Given the description of an element on the screen output the (x, y) to click on. 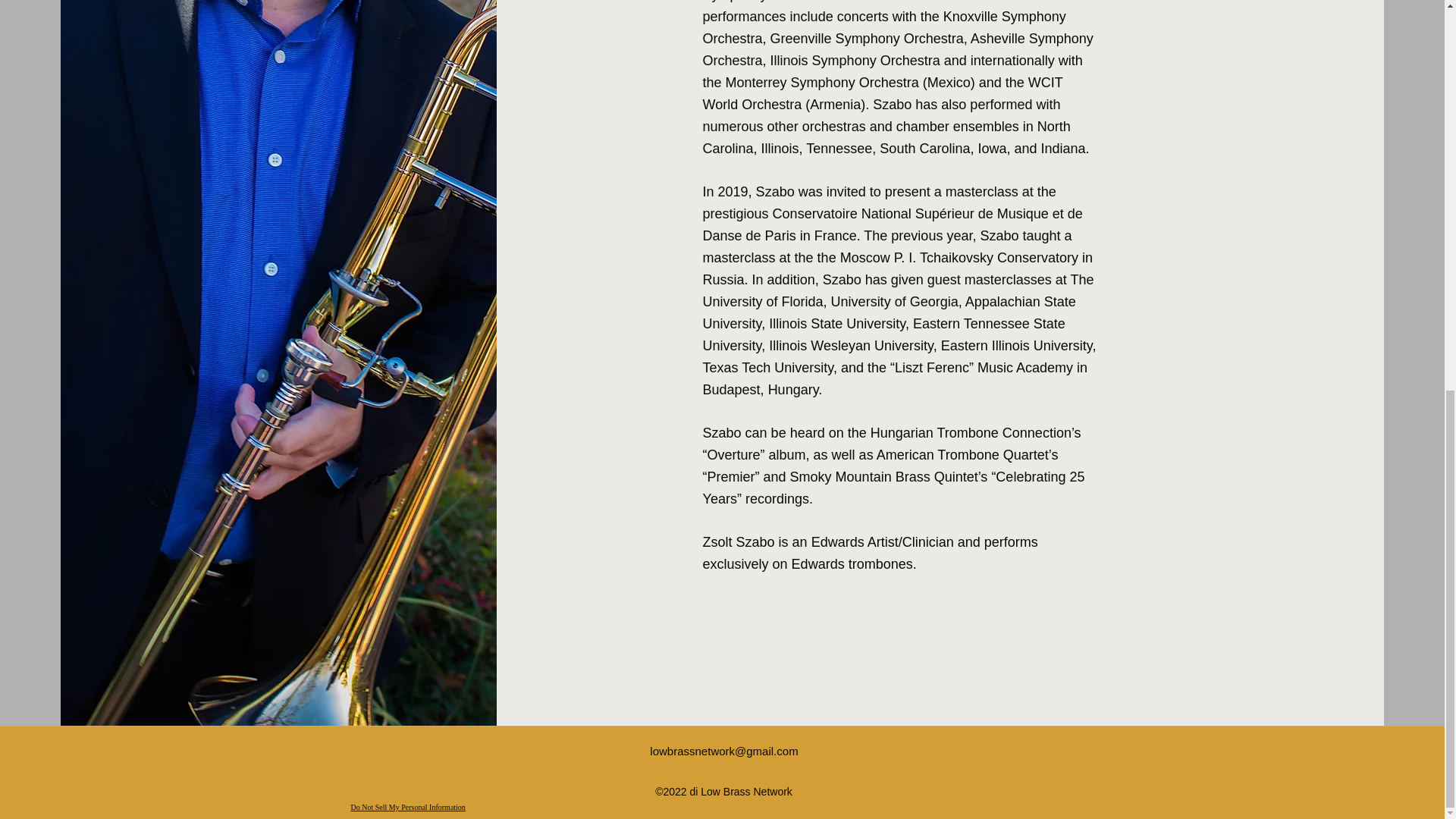
Do Not Sell My Personal Information (407, 807)
